Given the description of an element on the screen output the (x, y) to click on. 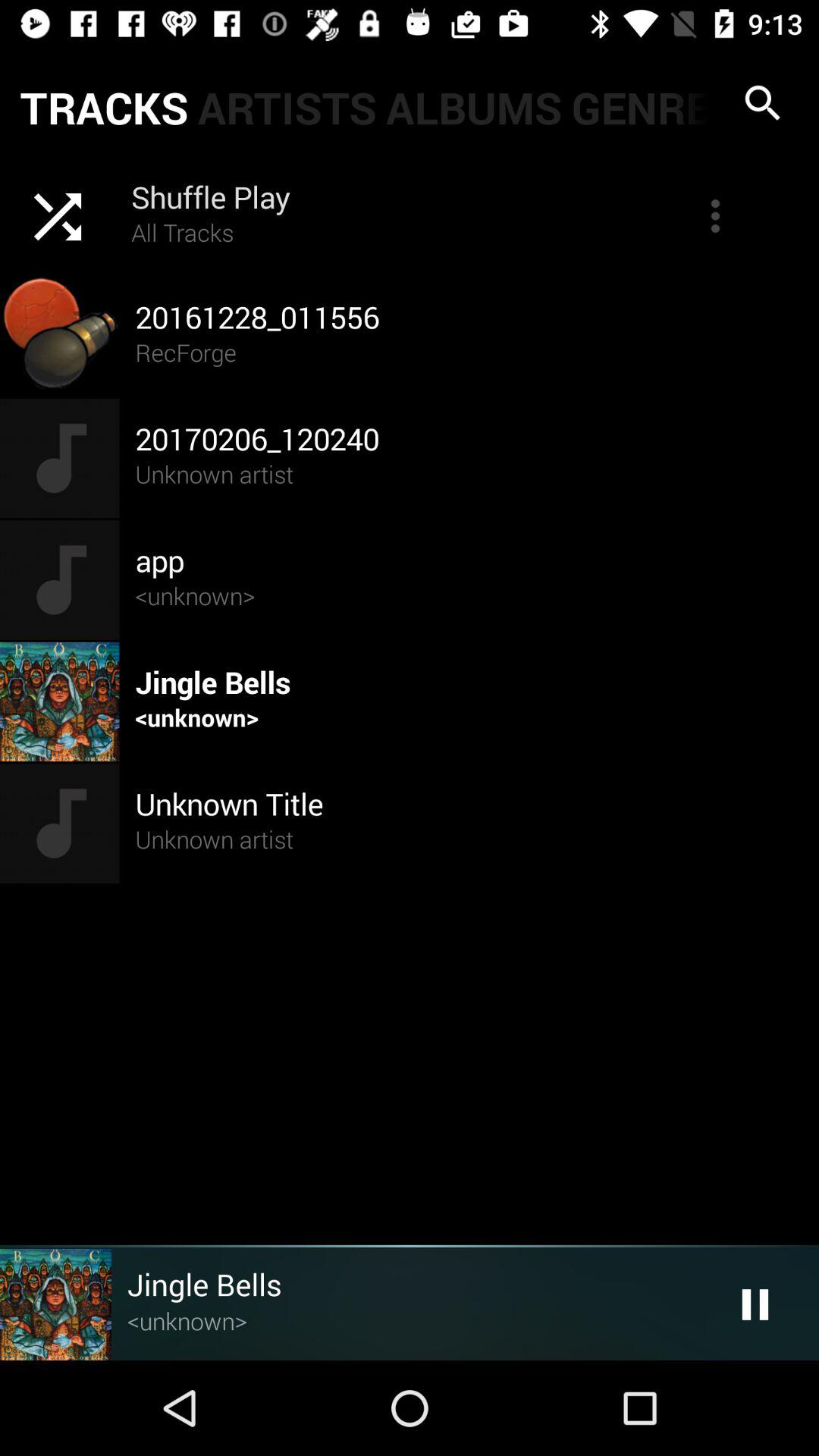
pause (755, 1304)
